Given the description of an element on the screen output the (x, y) to click on. 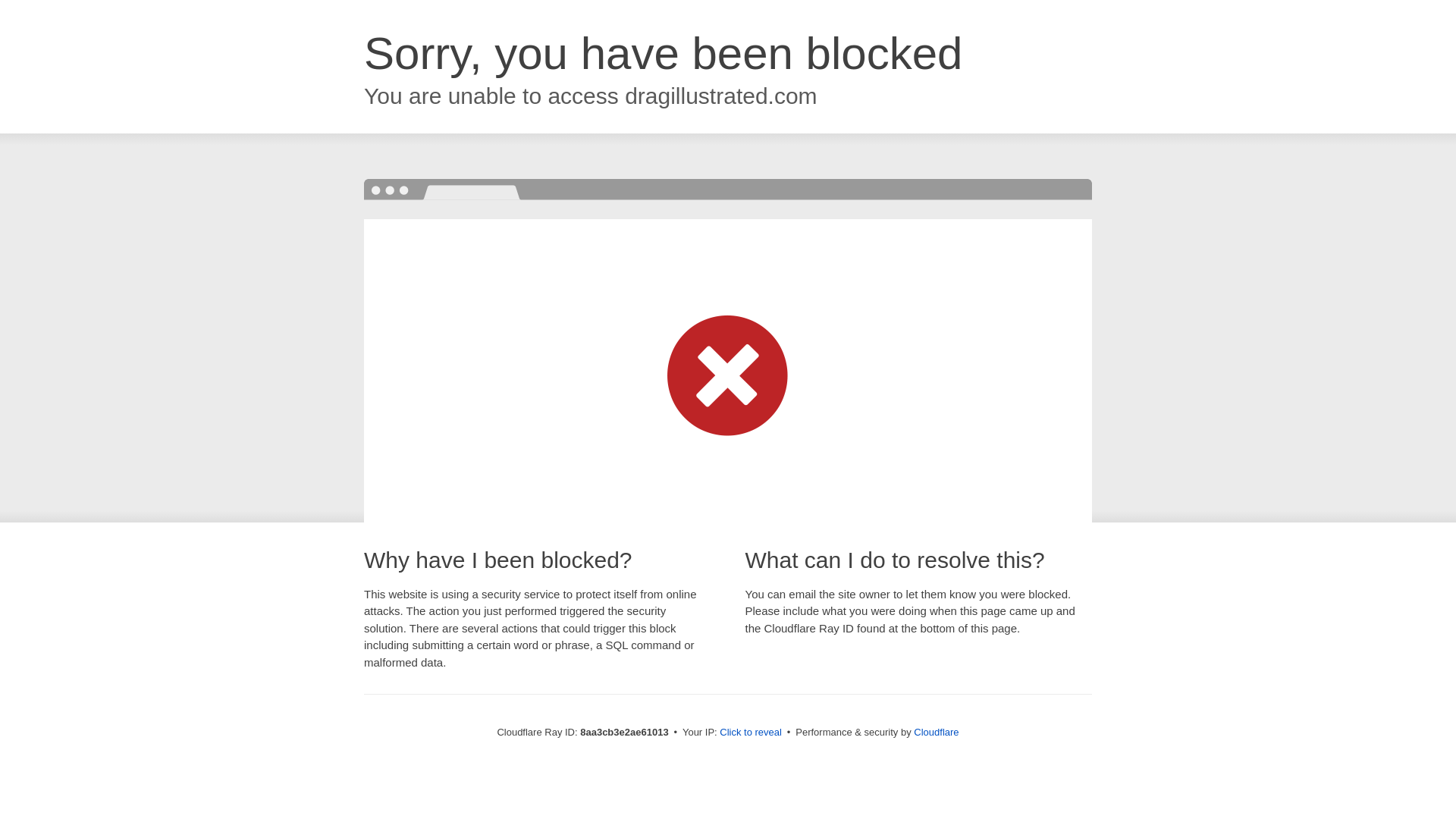
Cloudflare (936, 731)
Click to reveal (750, 732)
